Given the description of an element on the screen output the (x, y) to click on. 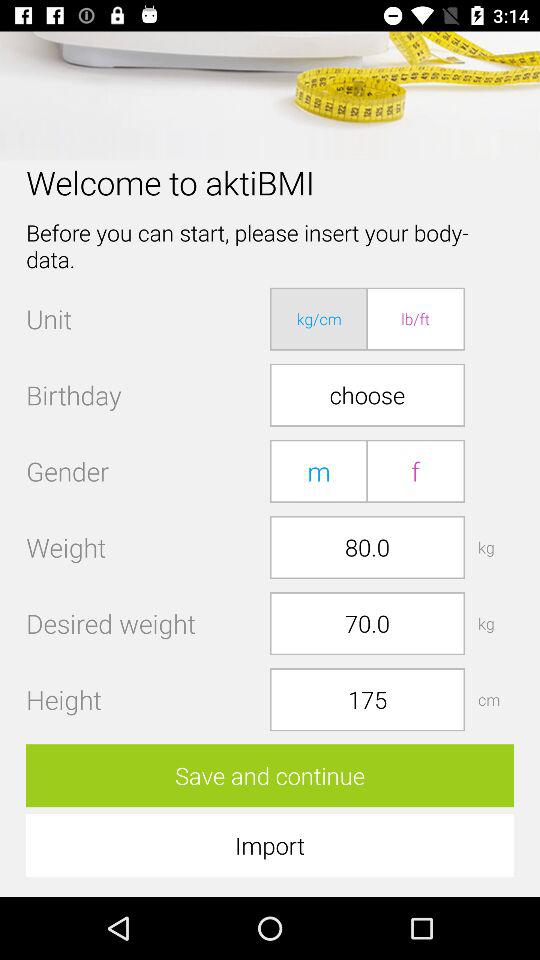
jump until the lb/ft (415, 318)
